Given the description of an element on the screen output the (x, y) to click on. 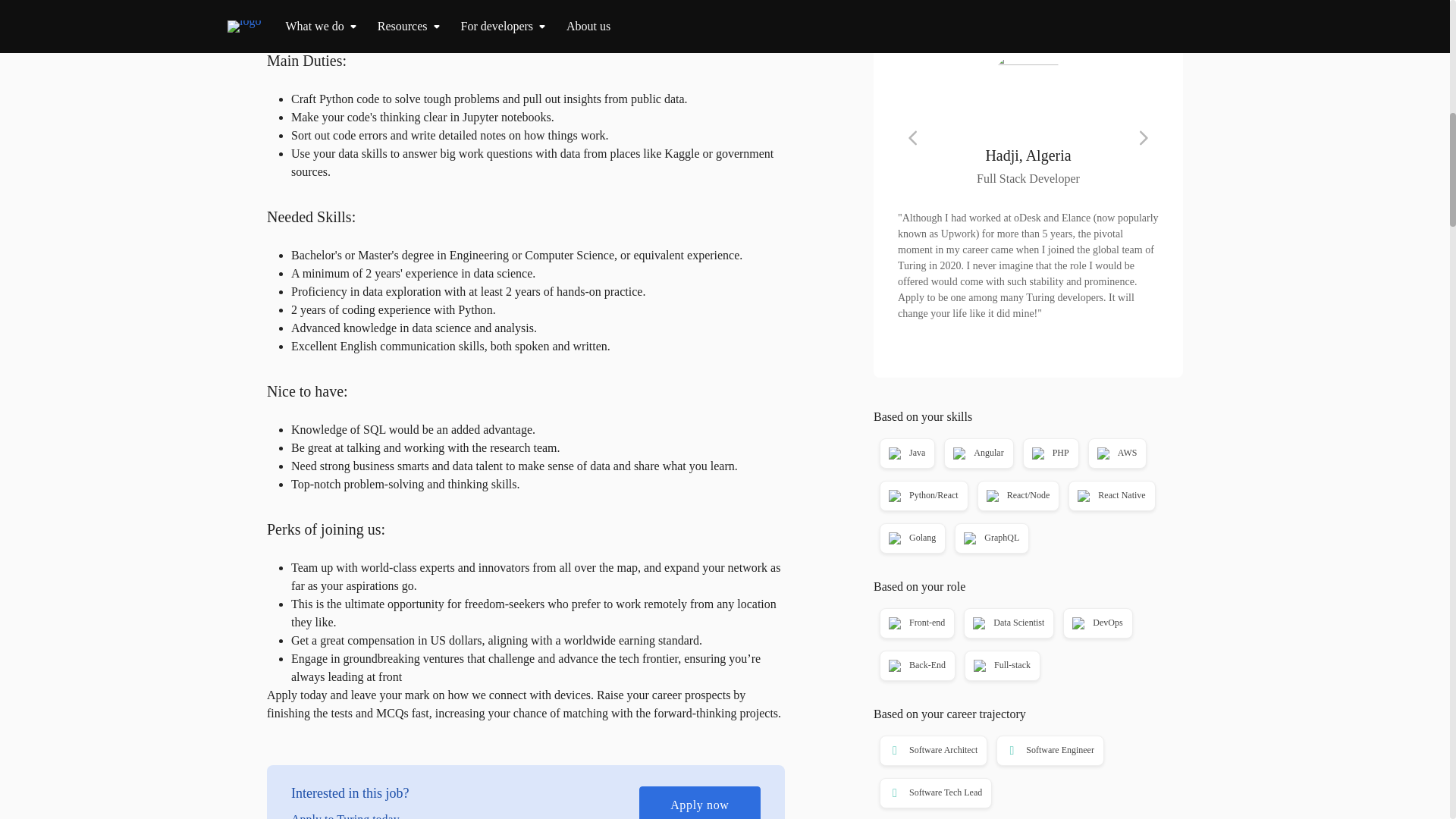
Golang (911, 537)
Software Engineer (1048, 750)
Software Tech Lead (933, 793)
Back-End (915, 665)
Front-end (915, 622)
Data Scientist (1007, 622)
Apply now (1027, 4)
Apply now (699, 802)
Software Architect (931, 750)
AWS (1115, 453)
Angular (976, 453)
DevOps (1096, 622)
GraphQL (990, 537)
Java (905, 453)
PHP (1048, 453)
